Given the description of an element on the screen output the (x, y) to click on. 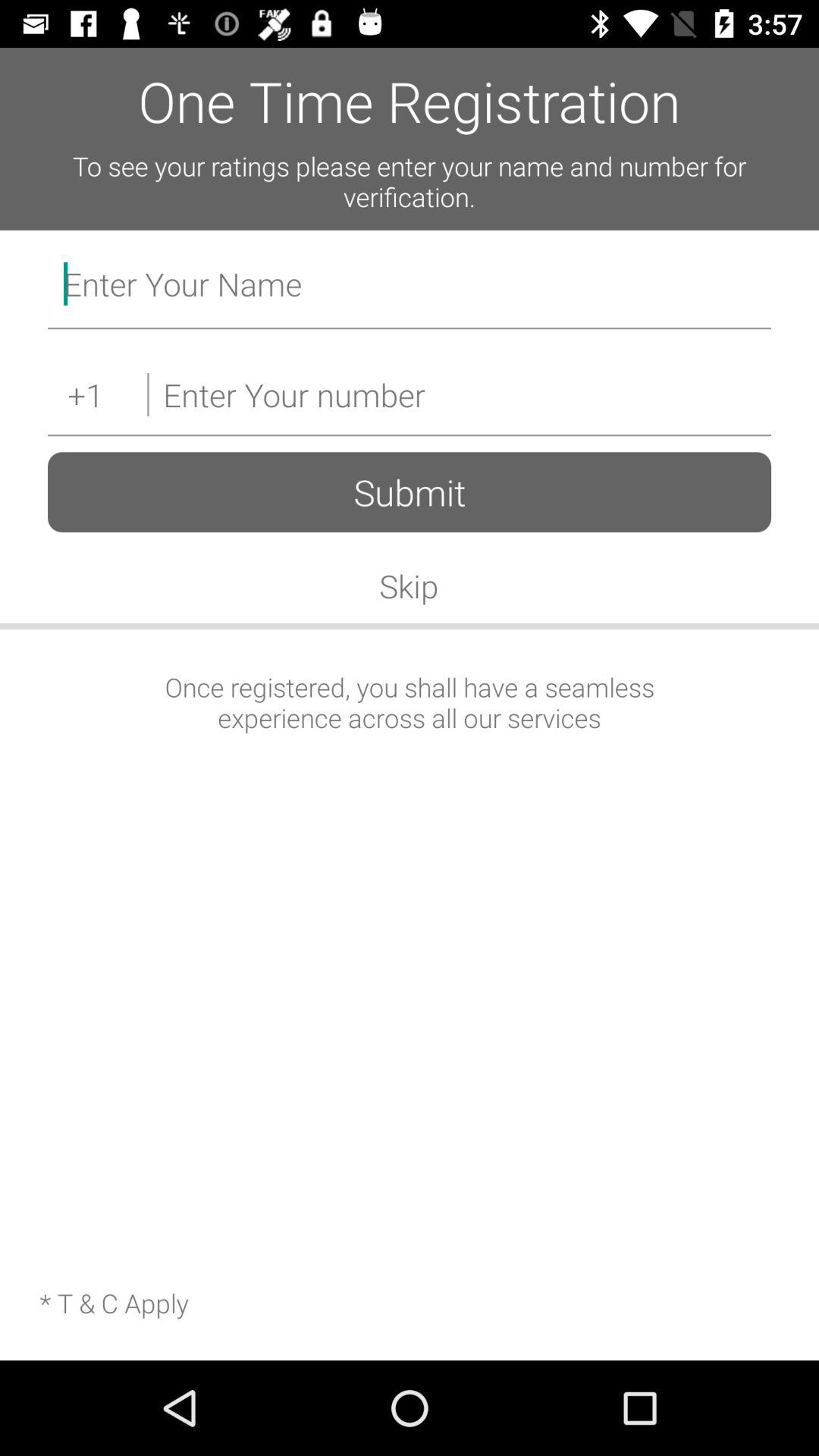
swipe until submit (409, 492)
